Given the description of an element on the screen output the (x, y) to click on. 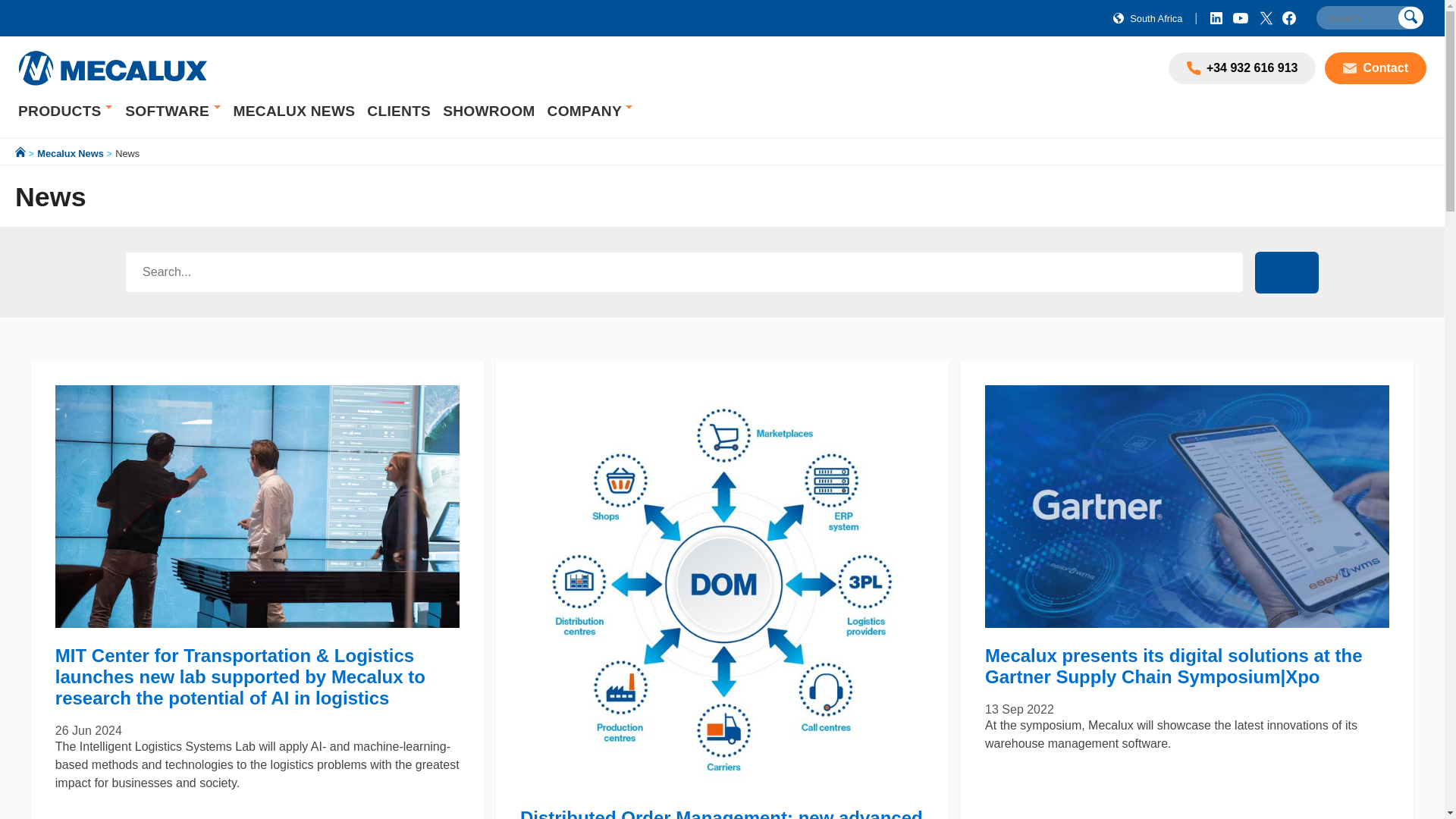
PRODUCTS (60, 110)
Mecalux, Warehouse solutions (112, 86)
Contact (1375, 68)
Search (1369, 17)
Warehouse solutions (60, 110)
Mecalux, Warehouse solutions (112, 67)
Contact (1375, 68)
Contact (1352, 68)
